Given the description of an element on the screen output the (x, y) to click on. 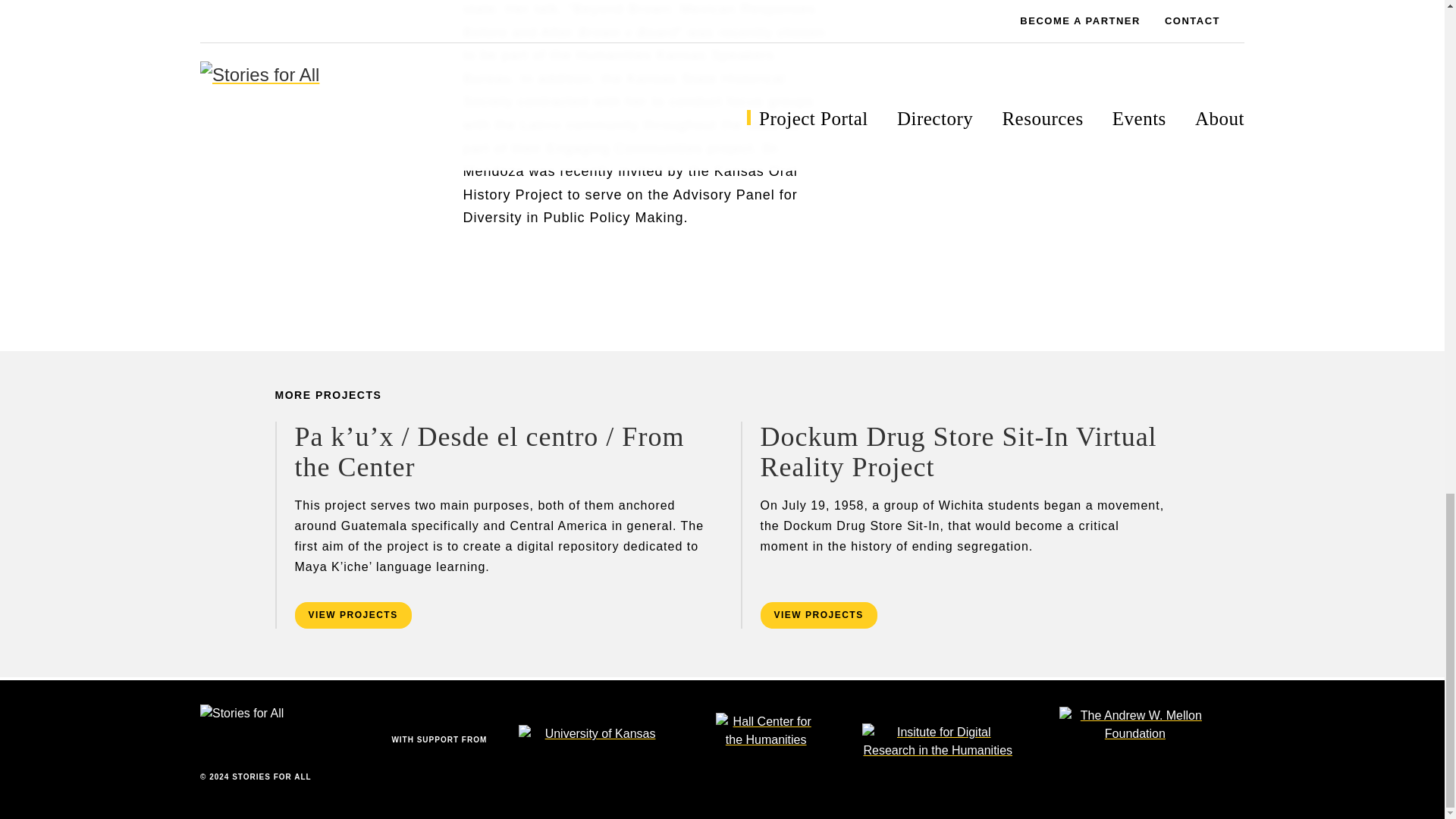
VIEW PROJECTS (352, 614)
Insitute for Digital Research in the Humanities (953, 742)
Dockum Drug Store Sit-In Virtual Reality Project (818, 614)
Hall Center for the Humanities (783, 742)
The Andrew W. Mellon Foundation (1151, 743)
VIEW PROJECTS (818, 614)
Dockum Drug Store Sit-In Virtual Reality Project (958, 452)
University of Kansas (610, 742)
Dockum Drug Store Sit-In Virtual Reality Project (958, 452)
